Given the description of an element on the screen output the (x, y) to click on. 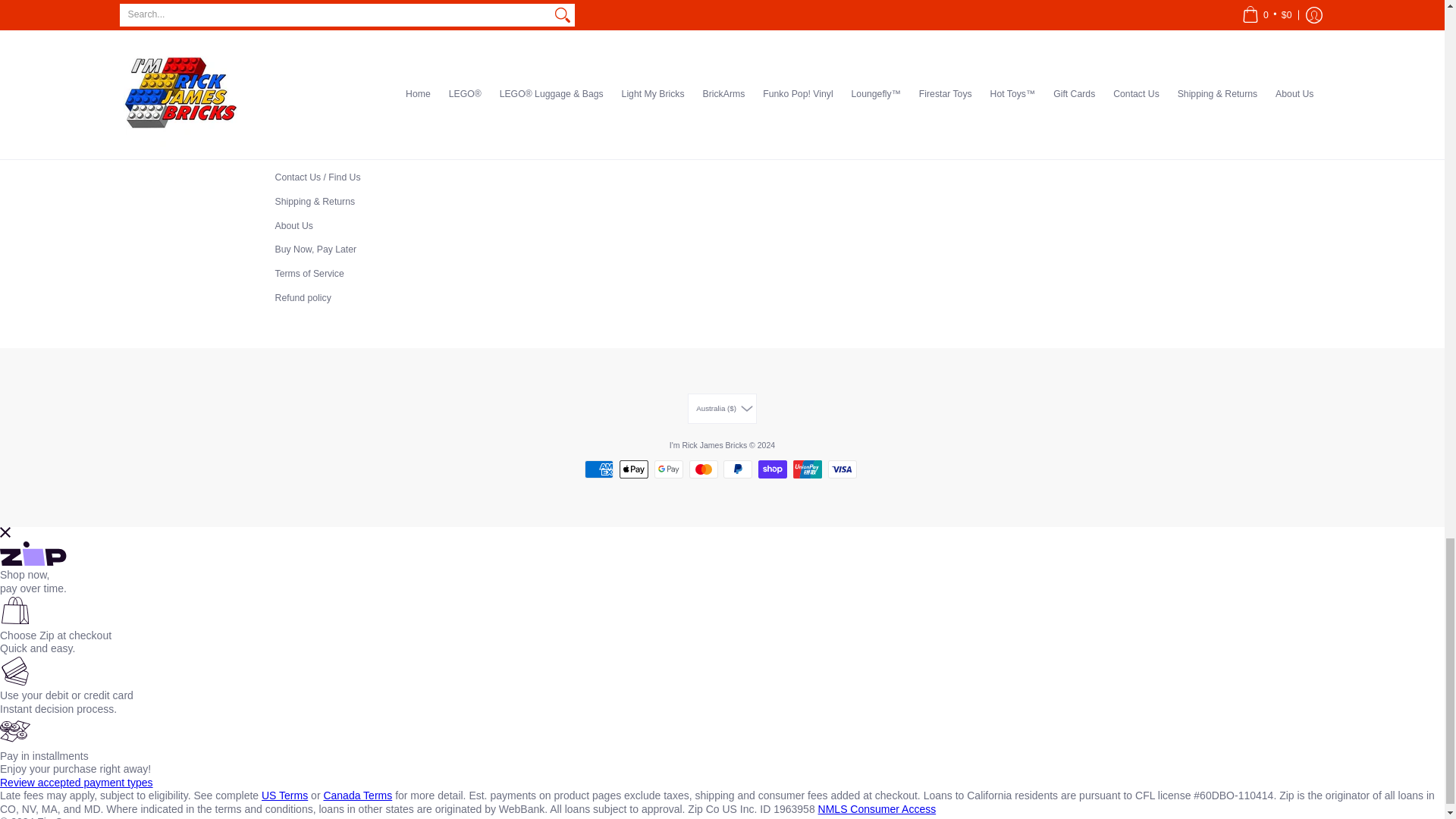
Refund policy (303, 297)
Refund policy (303, 297)
LinkedIn (708, 78)
Terms of Service (309, 273)
About Us (294, 225)
Buy Now, Pay Later (315, 249)
Mastercard (702, 469)
Facebook (590, 78)
About Us (294, 225)
Funko Pop! Vinyl (310, 81)
American Express (598, 469)
Shop Pay (772, 469)
Twitter (619, 78)
BrickArms (296, 56)
Join (829, 38)
